Given the description of an element on the screen output the (x, y) to click on. 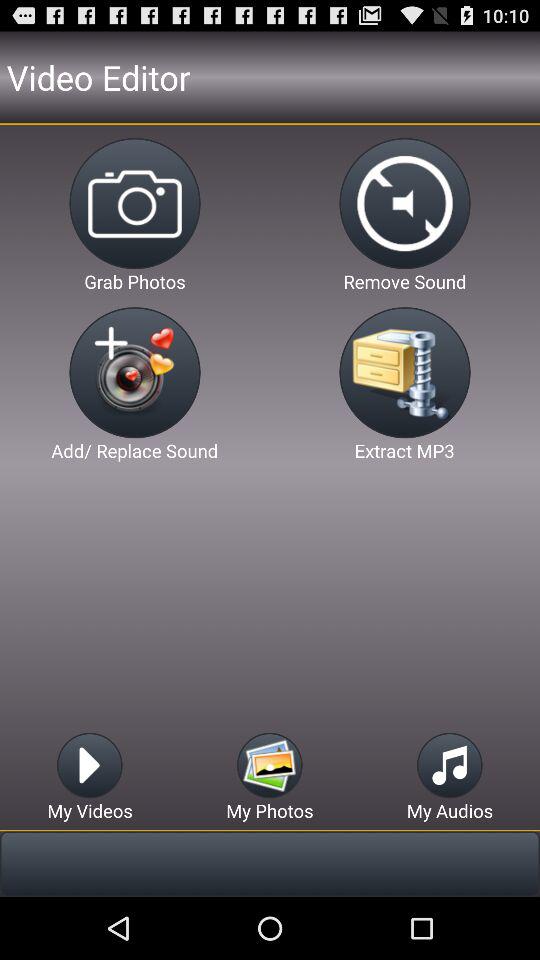
click on music symbol (448, 765)
